Given the description of an element on the screen output the (x, y) to click on. 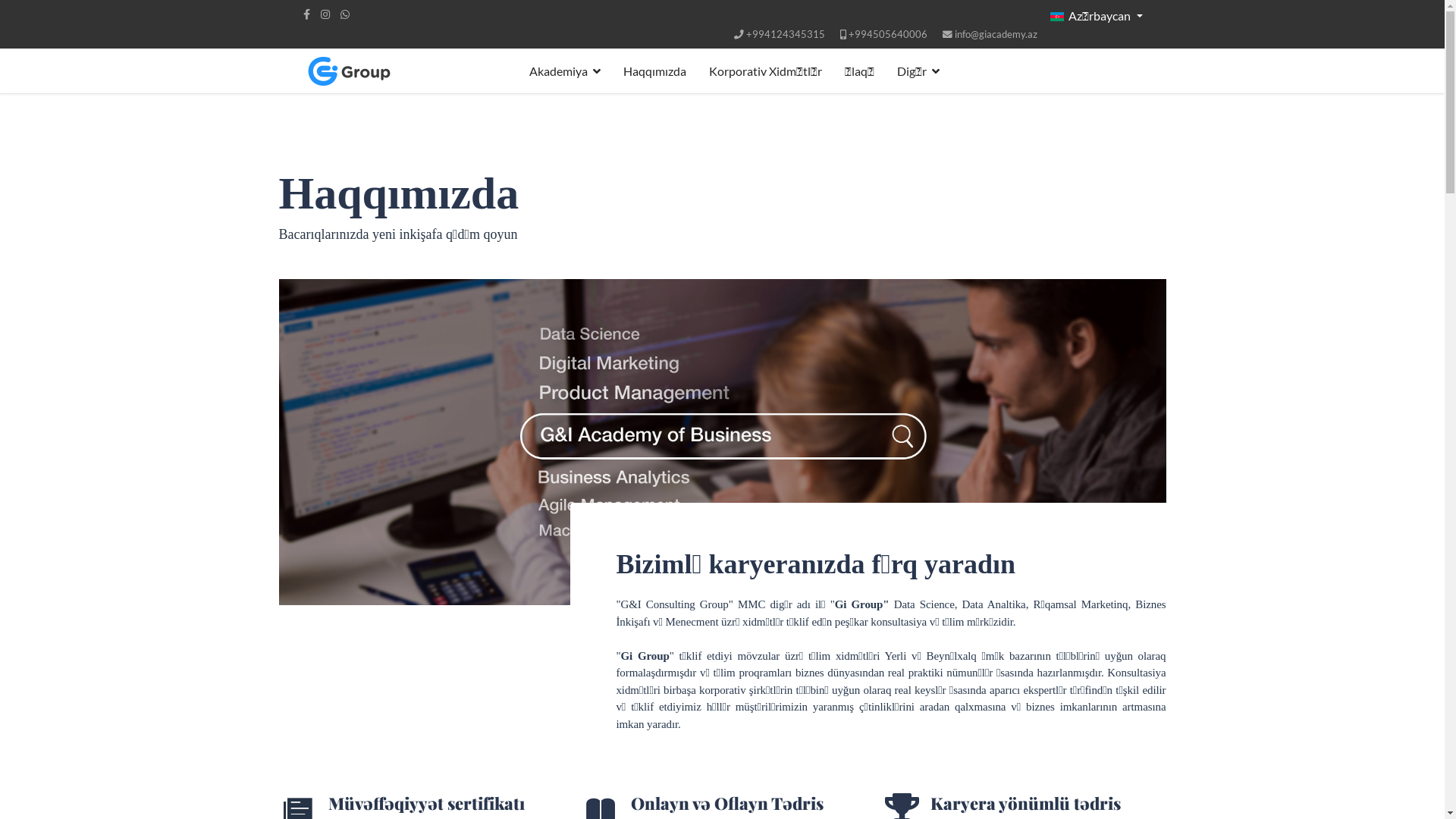
+994124345315 Element type: text (785, 34)
info@giacademy.az Element type: text (994, 34)
Akademiya Element type: text (564, 71)
+994505640006 Element type: text (886, 34)
